Given the description of an element on the screen output the (x, y) to click on. 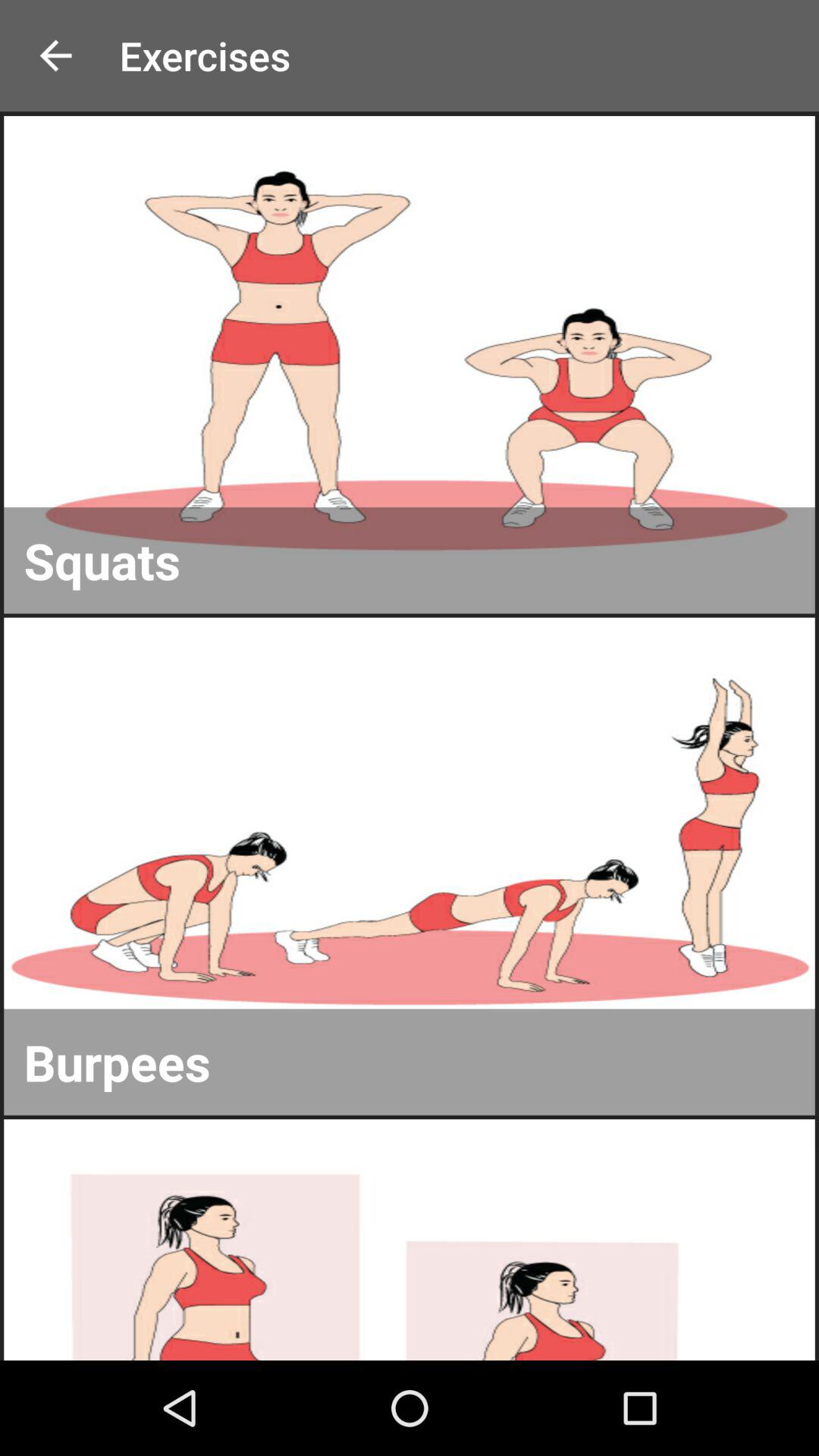
jump to the burpees item (409, 1061)
